Given the description of an element on the screen output the (x, y) to click on. 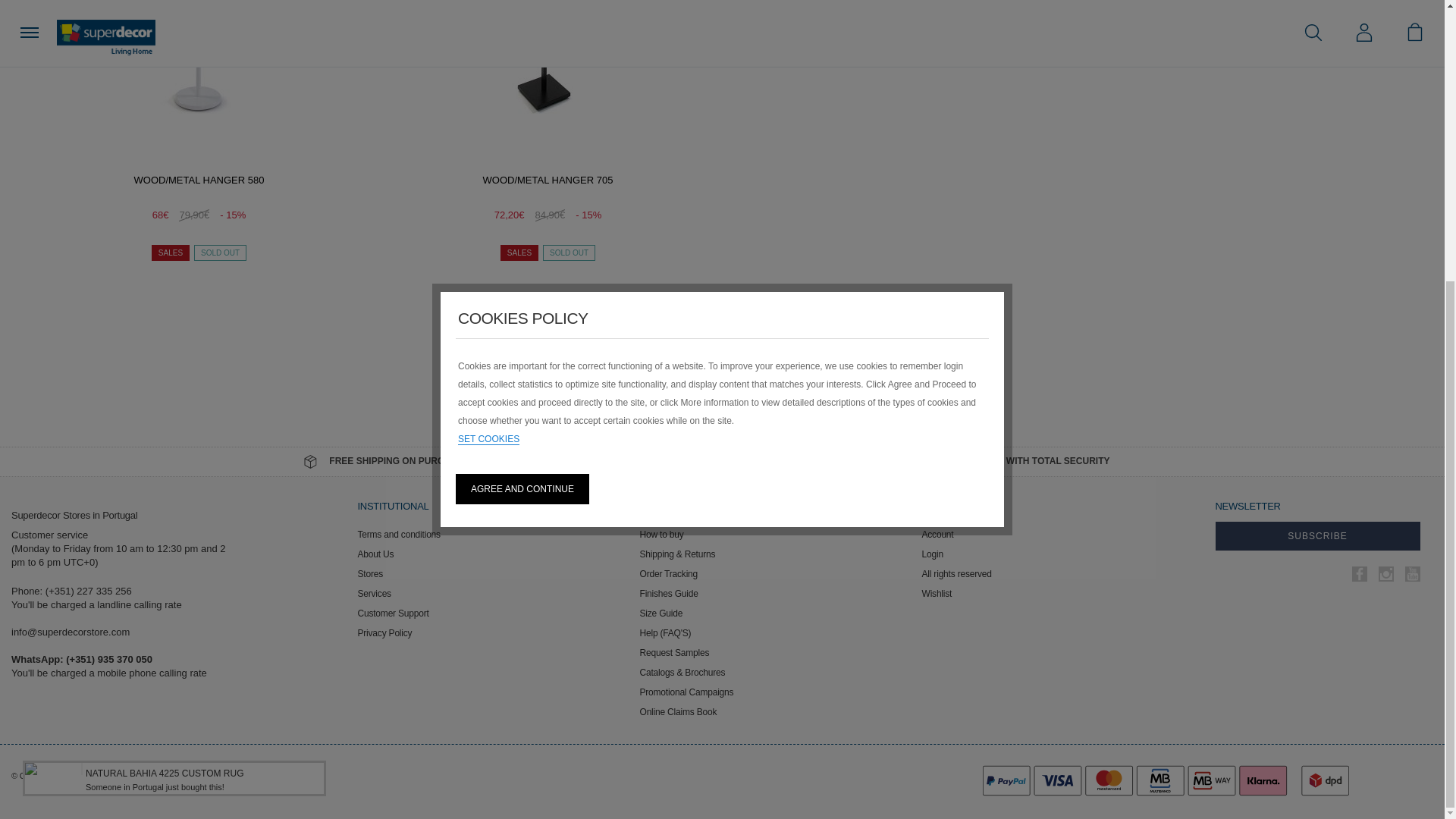
SET COOKIES (488, 19)
AGREE AND CONTINUE (522, 69)
